Given the description of an element on the screen output the (x, y) to click on. 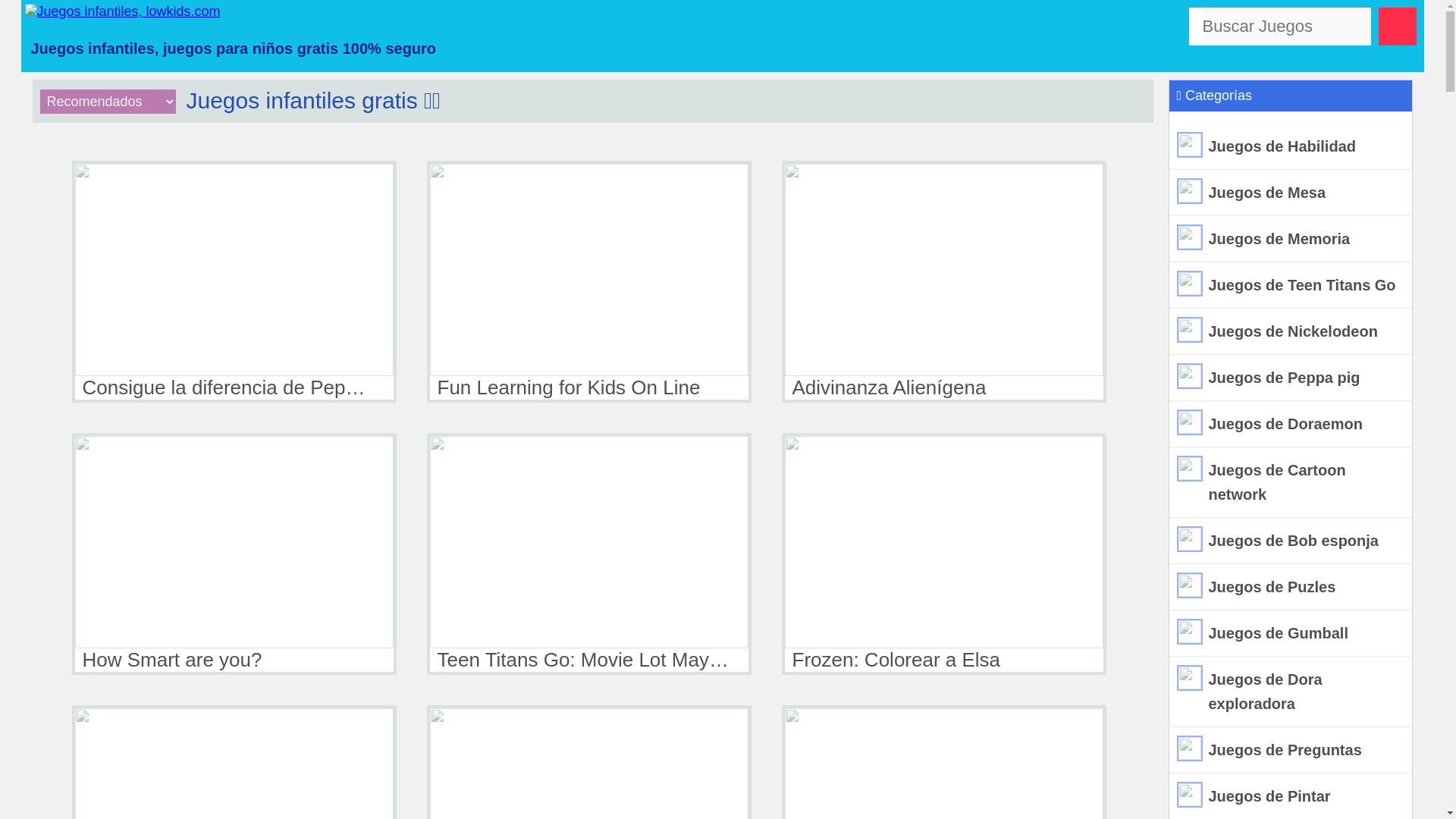
Juegos infantiles de Preguntas gratis (1290, 750)
Juegos de Dora exploradora (1290, 691)
How Smart are you? (233, 553)
Juegos infantiles de Pintar gratis (1290, 796)
Juegos infantiles de Bob esponja gratis (1290, 540)
Fun Learning for Kids On Line (588, 281)
Juegos infantiles de Dora exploradora gratis (1290, 691)
Juegos infantiles de Peppa pig gratis (1290, 377)
Peppa Pig The New House (233, 762)
Juegos infantiles de Teen Titans Go gratis (1290, 285)
Juegos de Bob esponja (1290, 540)
Juegos infantiles de Nickelodeon gratis (1290, 331)
Juegos de Doraemon (1290, 424)
Juegos infantiles de Habilidad gratis (1290, 146)
Juegos de Memoria (1290, 239)
